Given the description of an element on the screen output the (x, y) to click on. 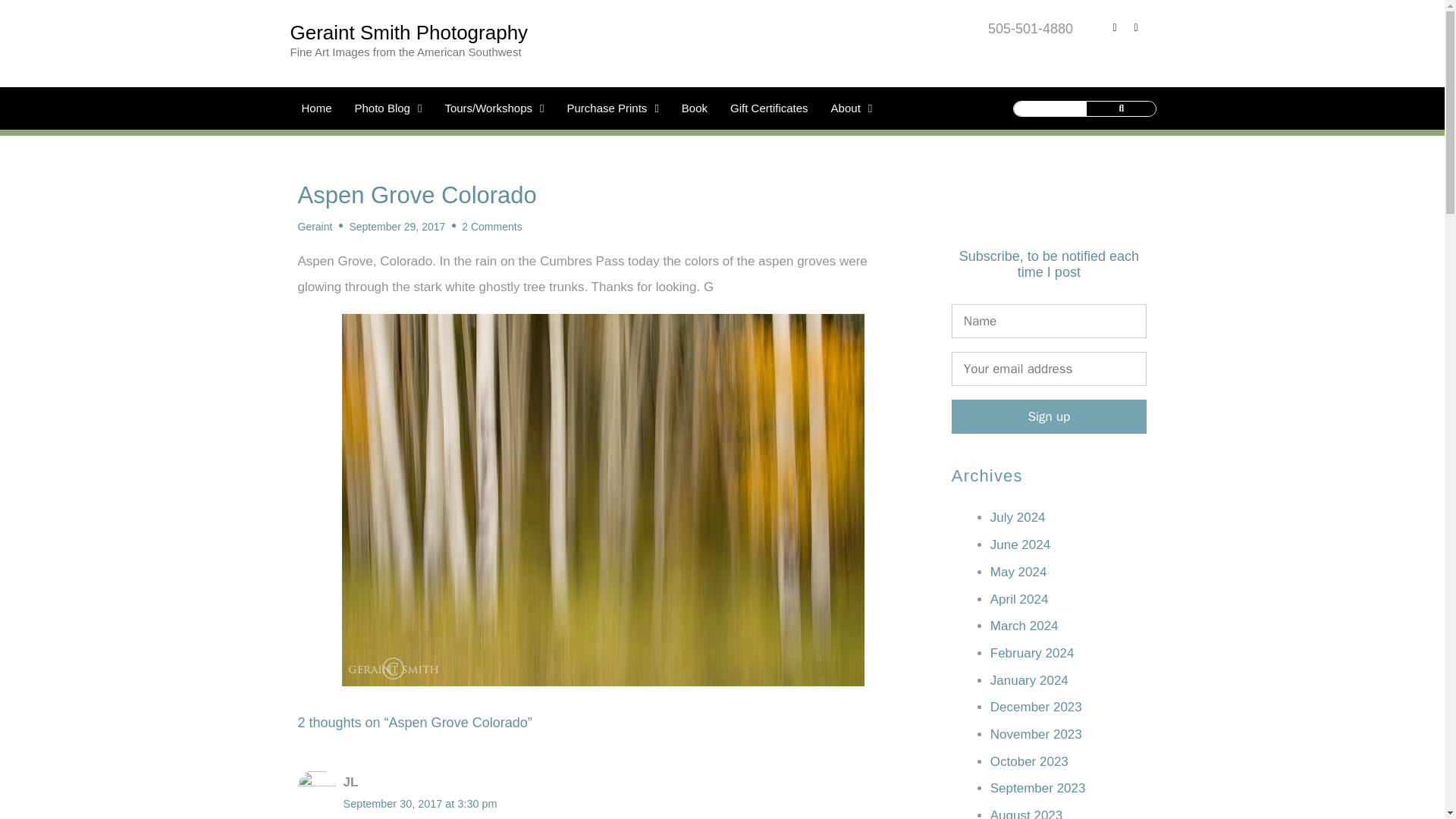
Purchase Prints (611, 107)
Sign up (1049, 416)
Home (315, 107)
Geraint Smith Photography (408, 32)
About (851, 107)
Book (694, 107)
Gift Certificates (769, 107)
Photo Blog (388, 107)
